Given the description of an element on the screen output the (x, y) to click on. 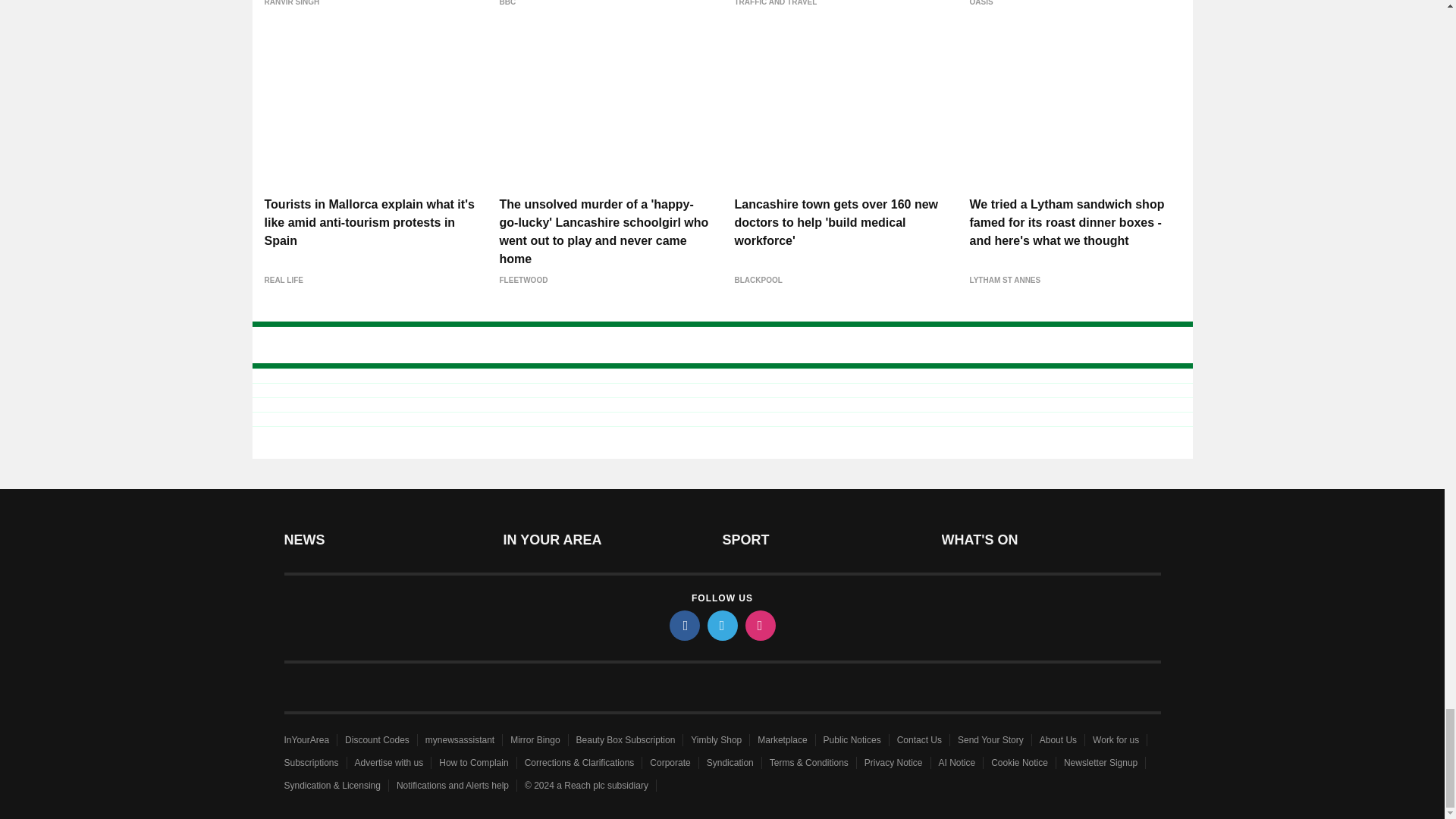
instagram (759, 625)
twitter (721, 625)
facebook (683, 625)
